Given the description of an element on the screen output the (x, y) to click on. 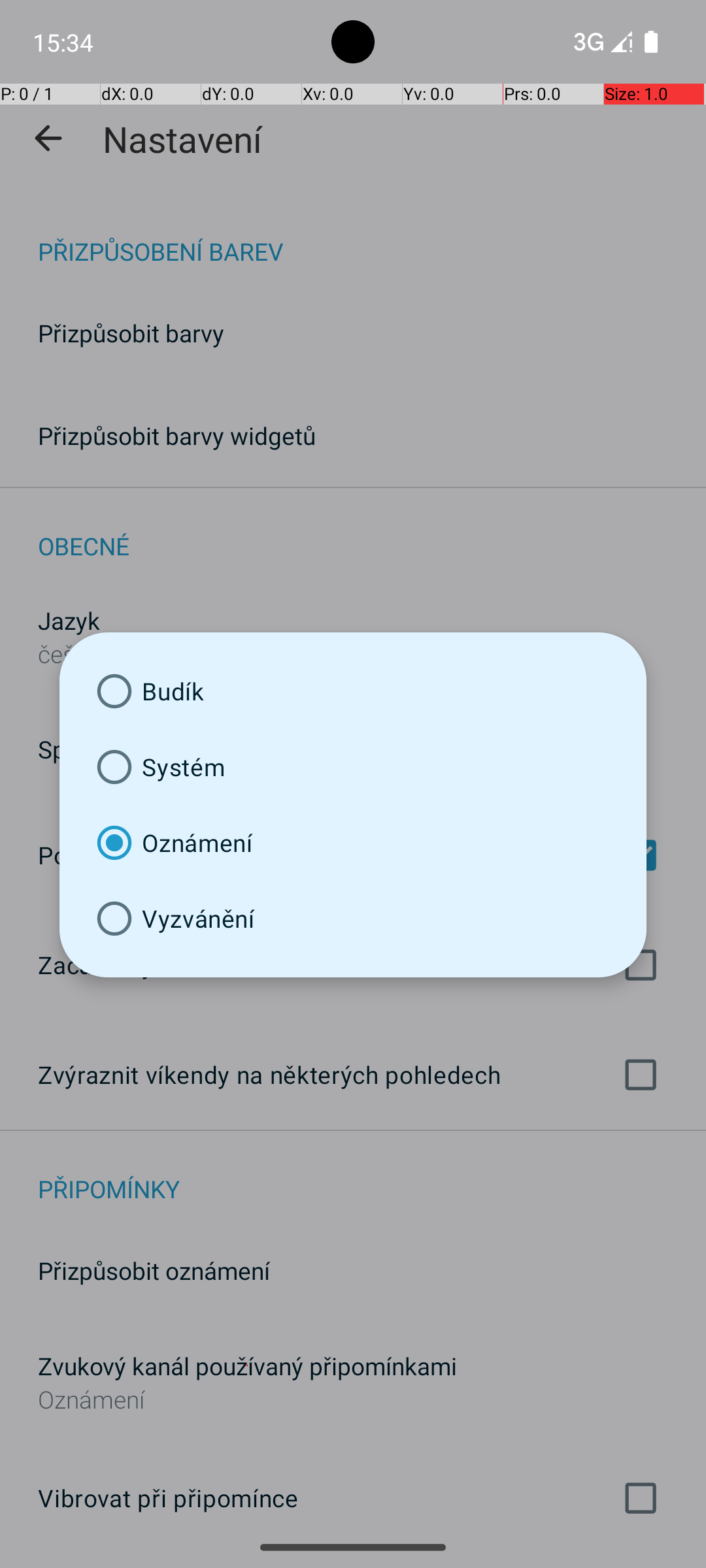
Budík Element type: android.widget.RadioButton (352, 691)
Systém Element type: android.widget.RadioButton (352, 766)
Oznámení Element type: android.widget.RadioButton (352, 842)
Vyzvánění Element type: android.widget.RadioButton (352, 918)
